Given the description of an element on the screen output the (x, y) to click on. 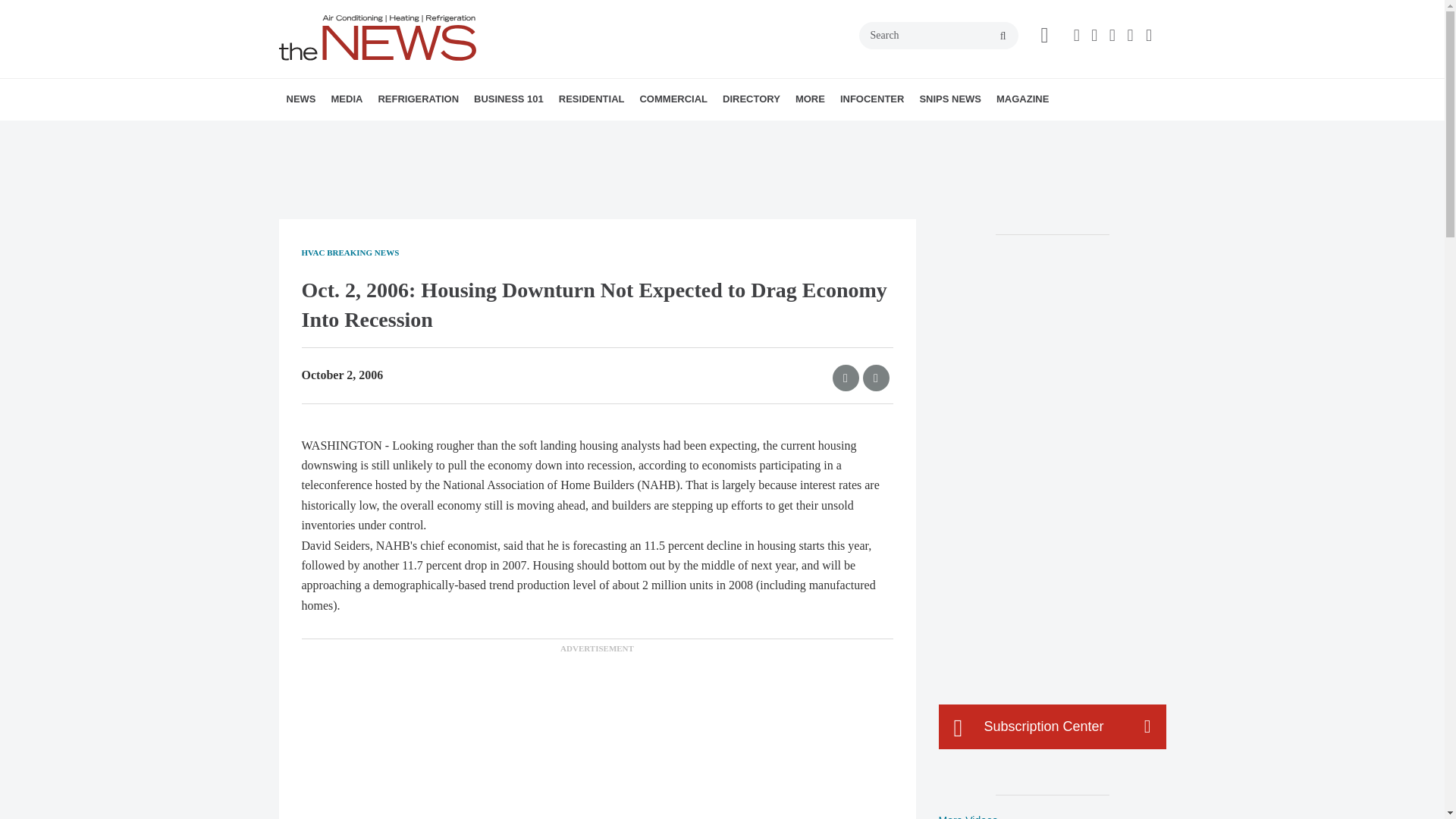
BUSINESS 101 (508, 98)
REFRIGERATION (417, 98)
VIDEOS (417, 132)
REFRIGERANTS (464, 132)
NEW HVAC PRODUCTS (380, 132)
HVAC DATA (391, 132)
BREAKING NEWS (373, 132)
THE NEWS HVACR QUIZ (445, 132)
ONLINE POLL (452, 132)
REFRIGERANT REGULATIONS (472, 132)
PODCASTS (430, 132)
NEWS (301, 98)
MEDIA (346, 98)
FROSTLINES (478, 132)
MANUFACTURER REPORTS (386, 132)
